Given the description of an element on the screen output the (x, y) to click on. 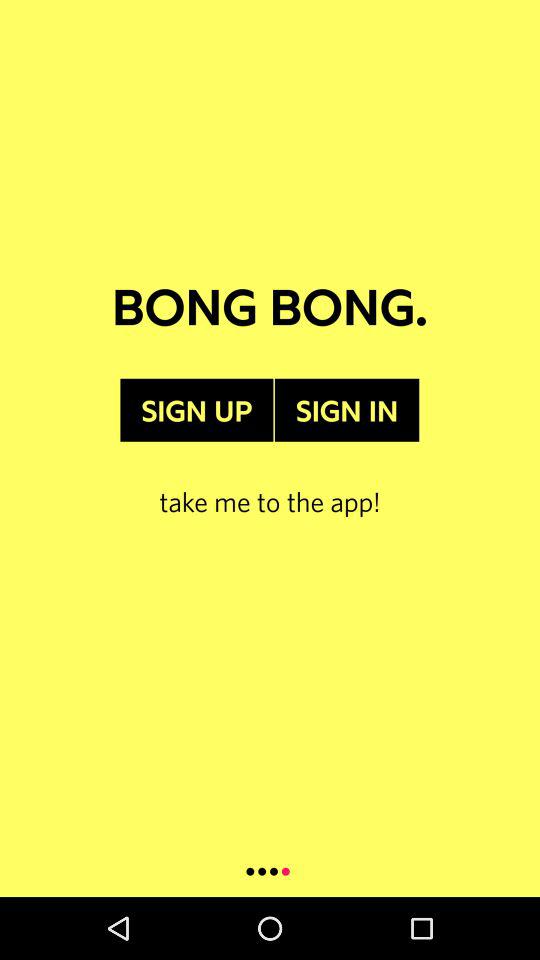
press icon to the left of the sign in icon (196, 409)
